Given the description of an element on the screen output the (x, y) to click on. 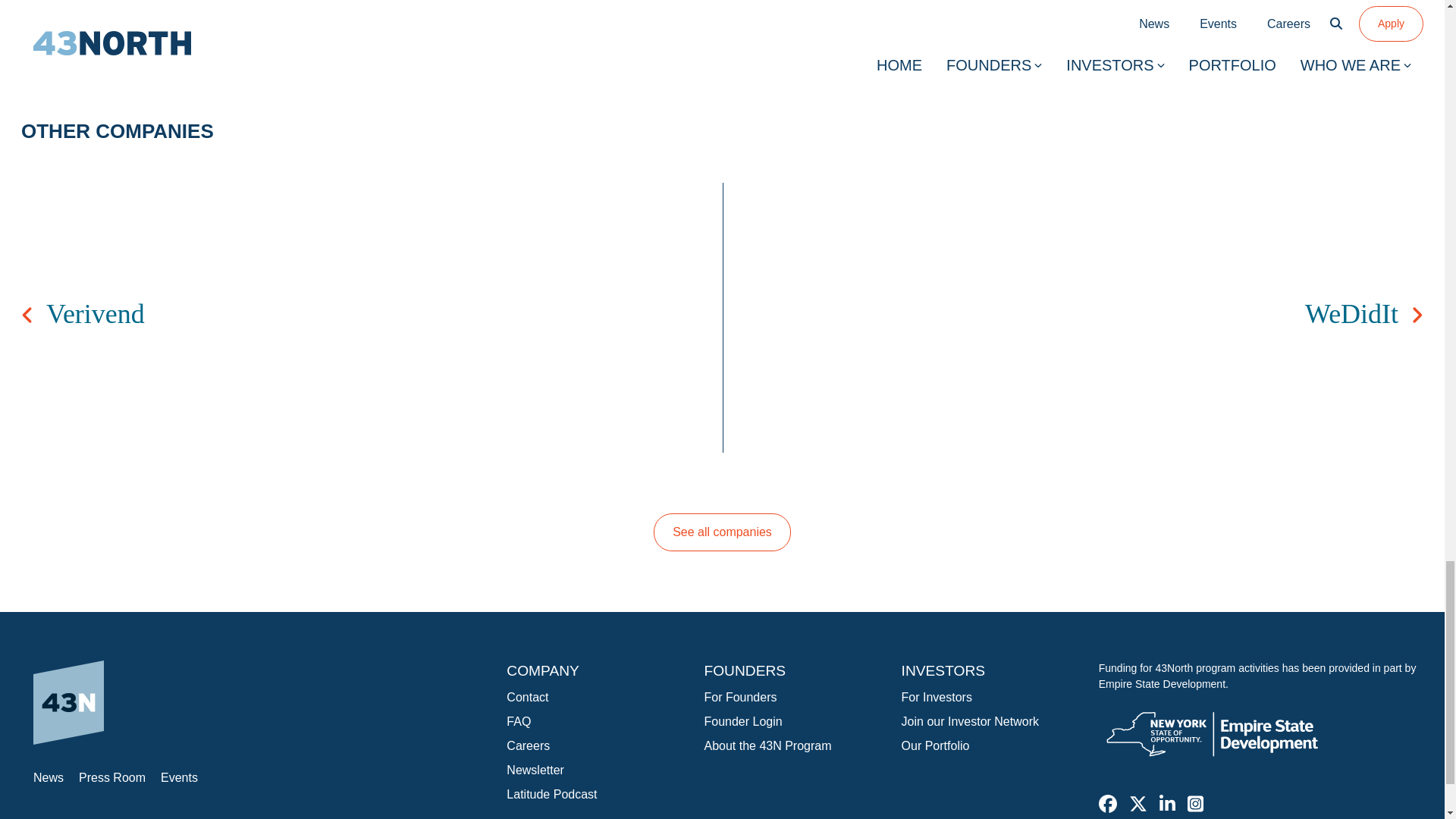
Facebook (1107, 803)
Twitter X (1138, 803)
Instagram (1196, 803)
LinkedIn (1166, 803)
